Given the description of an element on the screen output the (x, y) to click on. 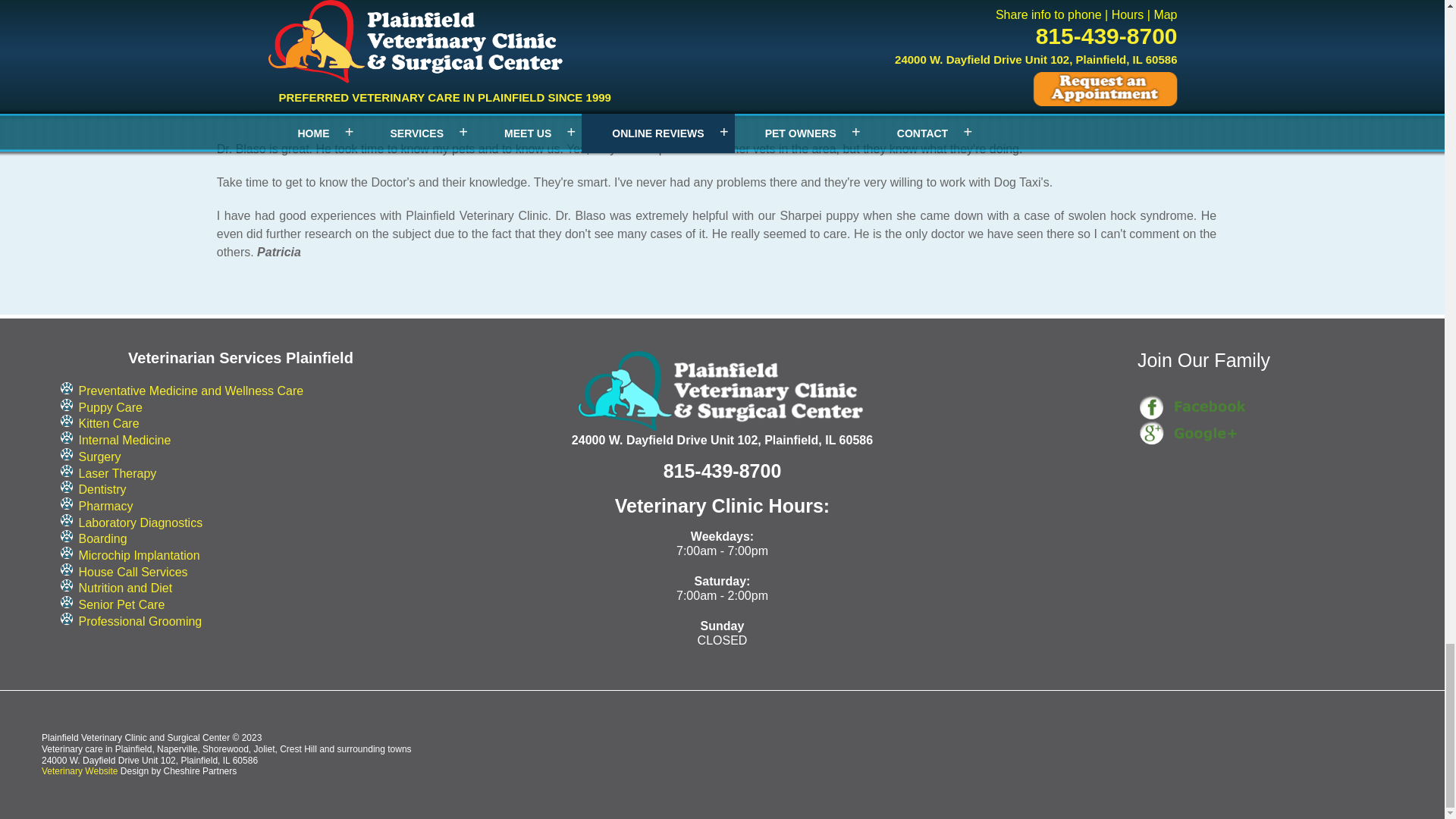
Veterinarians serving Plainfield IL (721, 390)
Plainfield Veterinary Clinic and Surgical Center on Facebook (1203, 406)
Preventative Medicine and Wellness Care (190, 390)
Veterinarians serving Plainfield IL (722, 390)
Kitten Care (108, 422)
Puppy Care (110, 407)
